Given the description of an element on the screen output the (x, y) to click on. 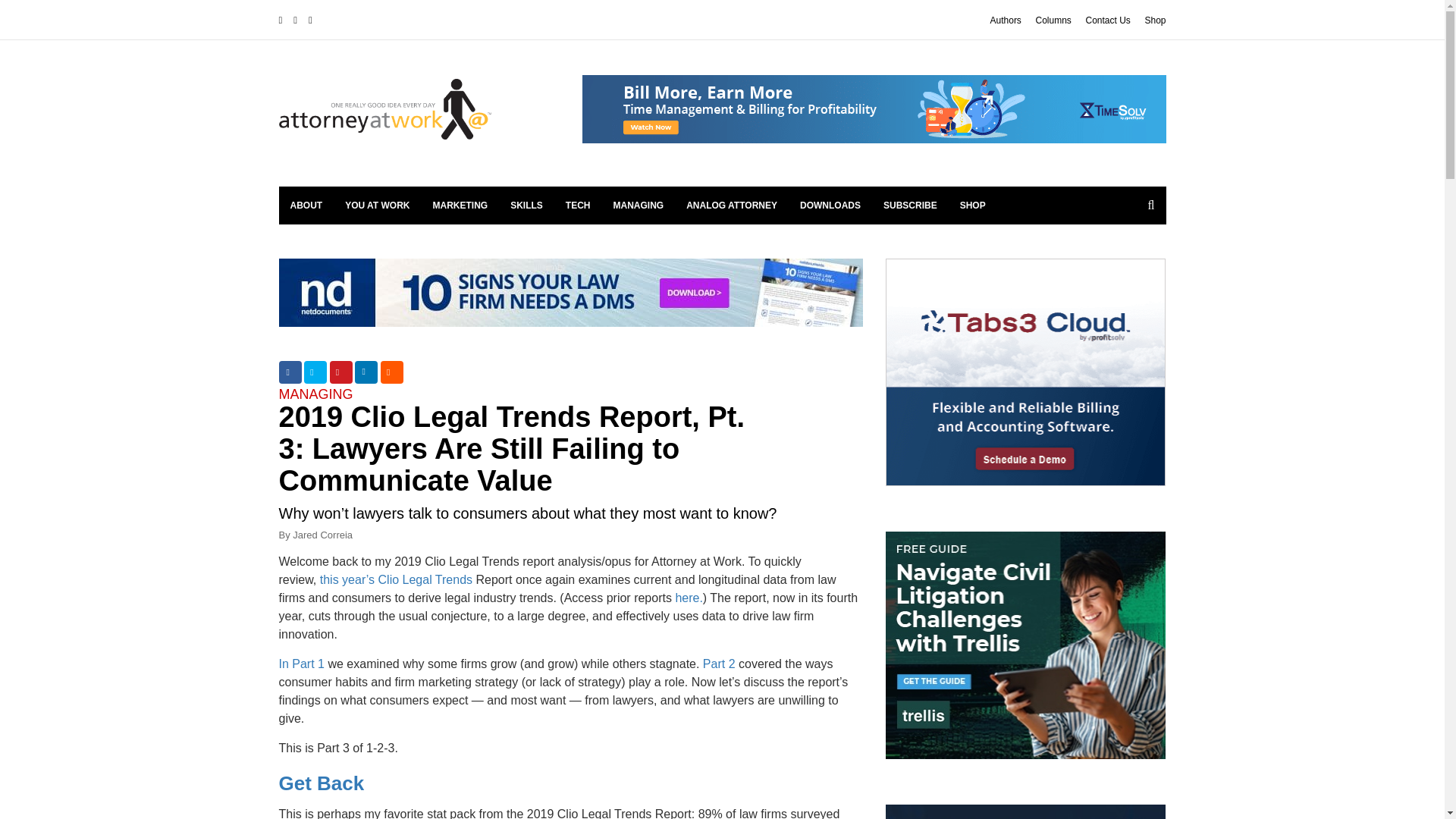
MARKETING (460, 205)
YOU AT WORK (376, 205)
SKILLS (526, 205)
ABOUT (306, 205)
MANAGING (638, 205)
Columns (1053, 20)
Contact Us (1106, 20)
You At Work (376, 205)
Shop (1155, 20)
About (306, 205)
Authors (1006, 20)
TECH (578, 205)
Marketing (460, 205)
